Given the description of an element on the screen output the (x, y) to click on. 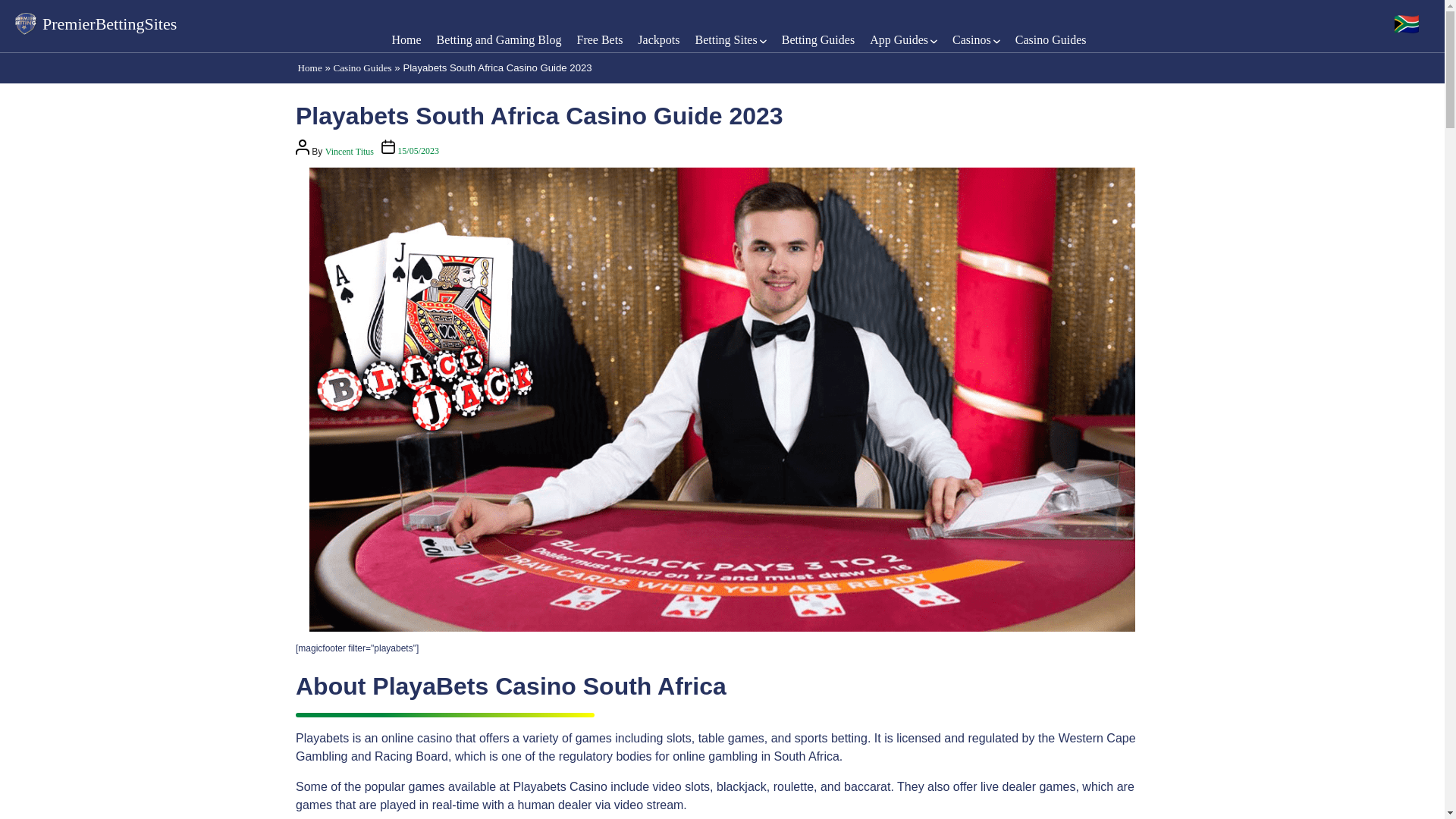
Free Bets (599, 39)
Home (405, 39)
Betting Guides (817, 39)
Jackpots (658, 39)
Betting and Gaming Blog (499, 39)
Casino Guides (1050, 39)
App Guides (898, 39)
Casinos (971, 39)
Betting Sites (725, 39)
PremierBettingSites (95, 23)
